Given the description of an element on the screen output the (x, y) to click on. 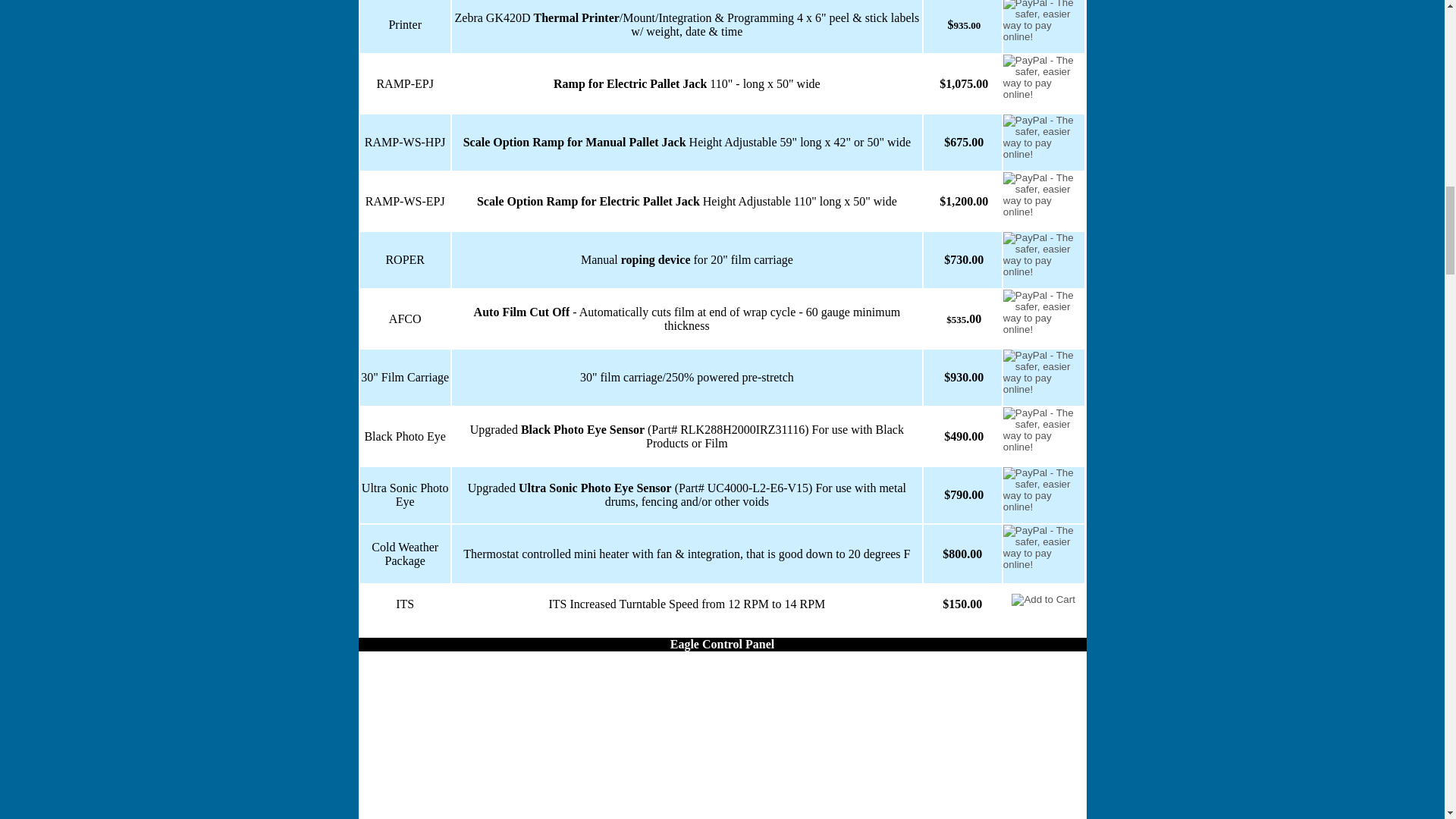
PayPal - The safer, easier way to pay online! (1042, 598)
